Given the description of an element on the screen output the (x, y) to click on. 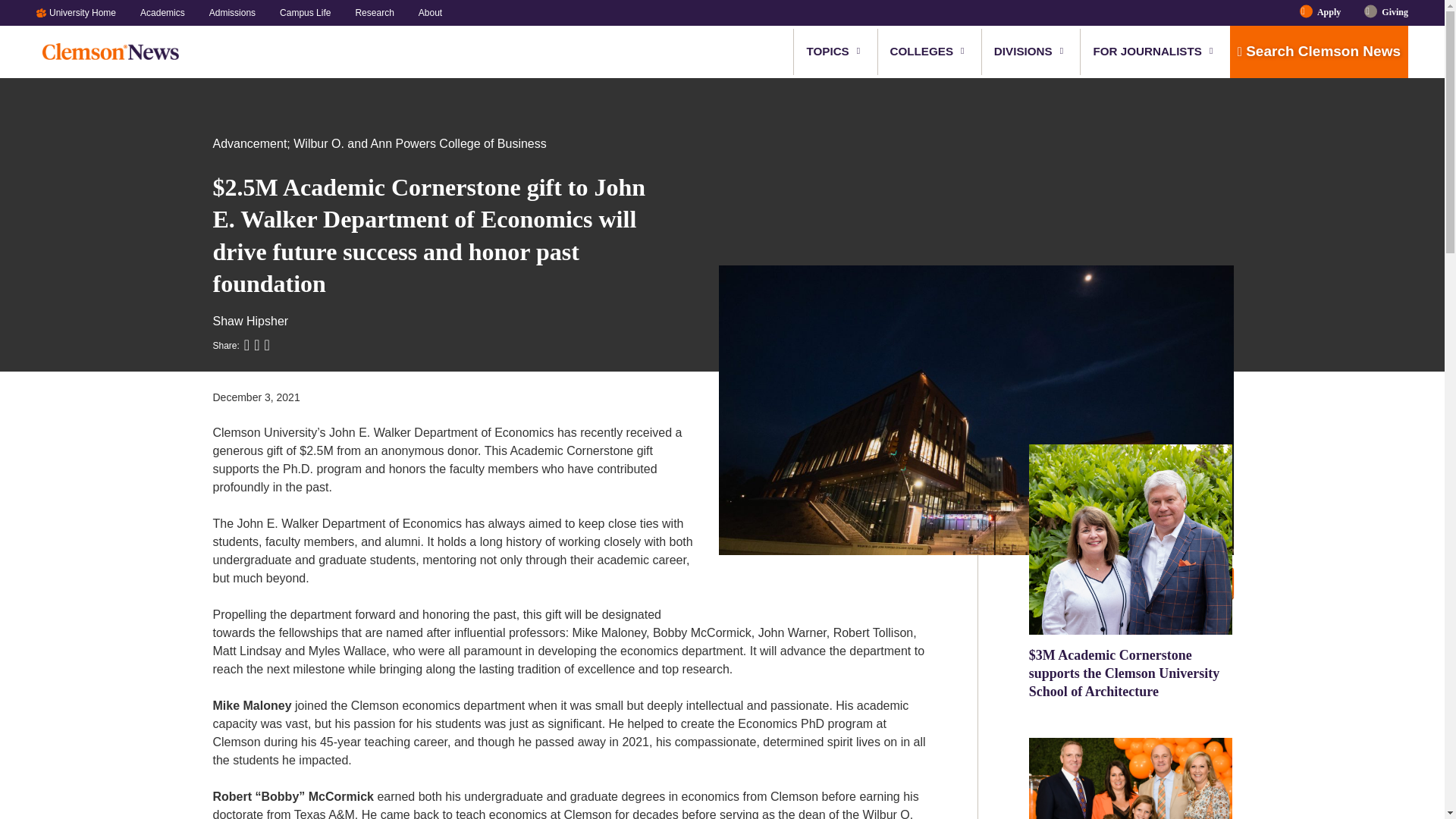
Academics (162, 12)
About (424, 12)
TOPICS (828, 51)
Clemson News (114, 51)
University Home (88, 12)
Campus Life (304, 12)
Admissions (231, 12)
Research (374, 12)
COLLEGES (922, 51)
Apply (1328, 11)
